Given the description of an element on the screen output the (x, y) to click on. 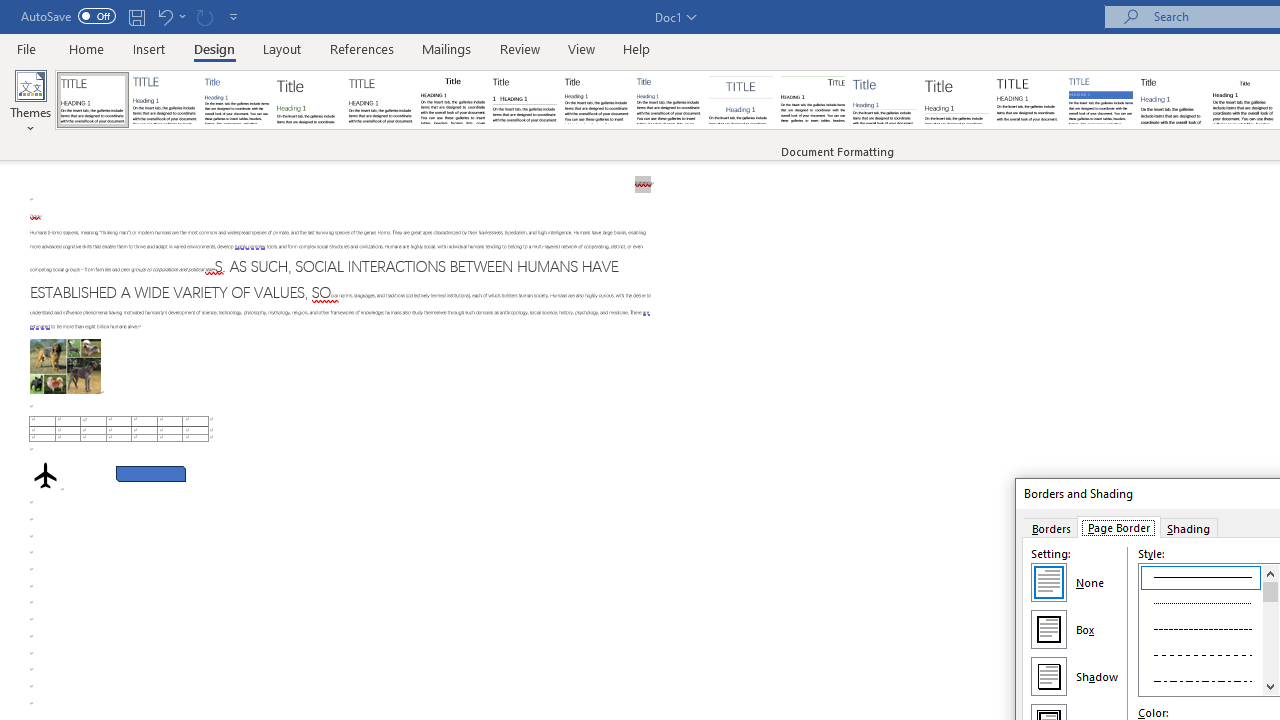
Casual (669, 100)
Lines (Stylish) (957, 100)
None (1048, 582)
Rectangle: Diagonal Corners Snipped 2 (150, 473)
Page down (1270, 639)
Shading (1188, 527)
Document (93, 100)
Basic (Stylish) (308, 100)
Themes (30, 102)
Black & White (Classic) (452, 100)
Undo Paragraph Alignment (170, 15)
Box (1048, 628)
